Given the description of an element on the screen output the (x, y) to click on. 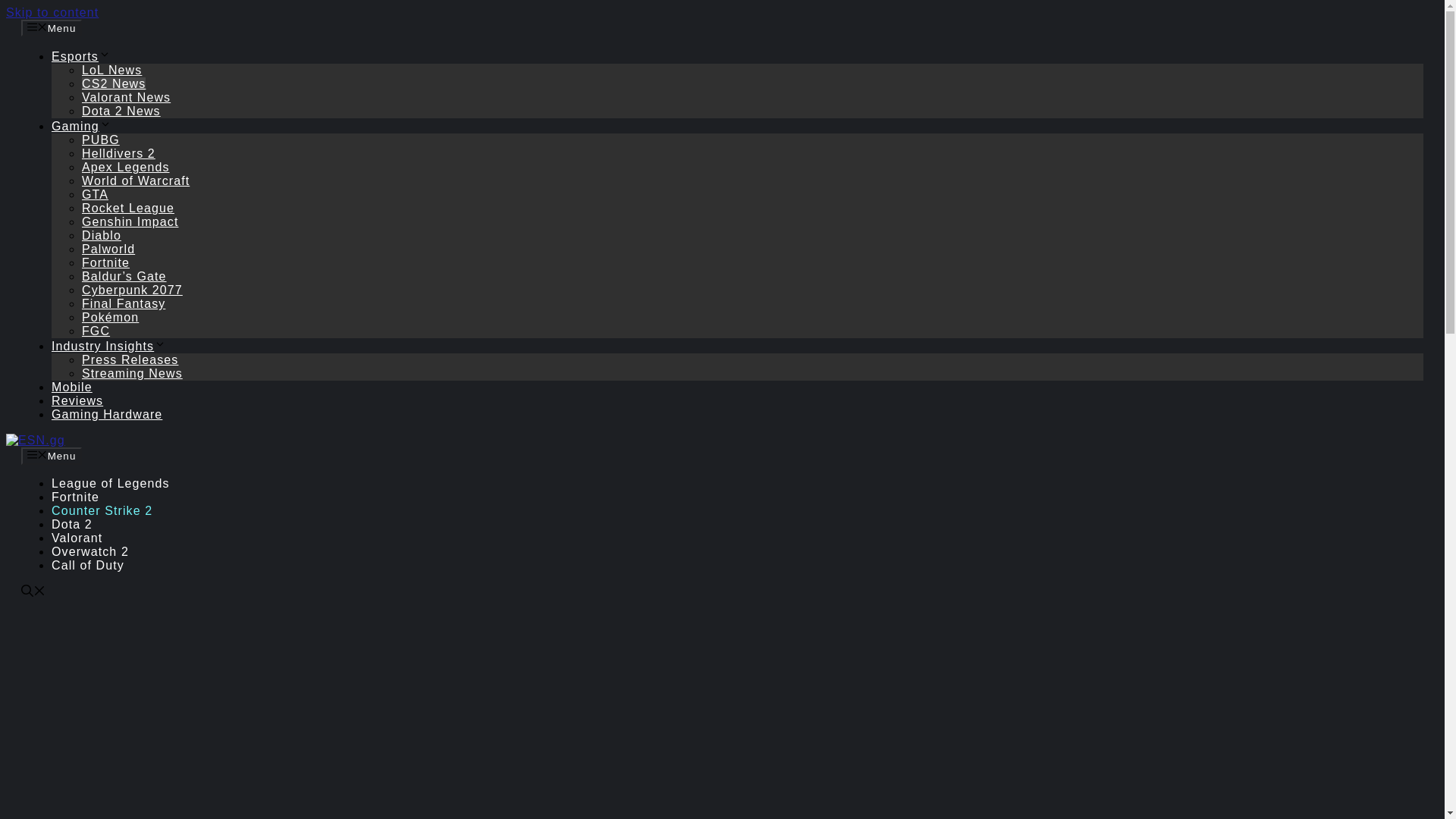
Valorant News (125, 97)
Apex Legends (125, 166)
Menu (51, 455)
PUBG (100, 139)
Counter Strike 2 (101, 510)
CS2 News (113, 83)
LoL News (111, 69)
Fortnite (74, 496)
Skip to content (52, 11)
League of Legends (110, 482)
Industry Insights (107, 345)
Dota 2 (71, 523)
Gaming Hardware (105, 413)
Dota 2 News (120, 110)
Streaming News (132, 373)
